Given the description of an element on the screen output the (x, y) to click on. 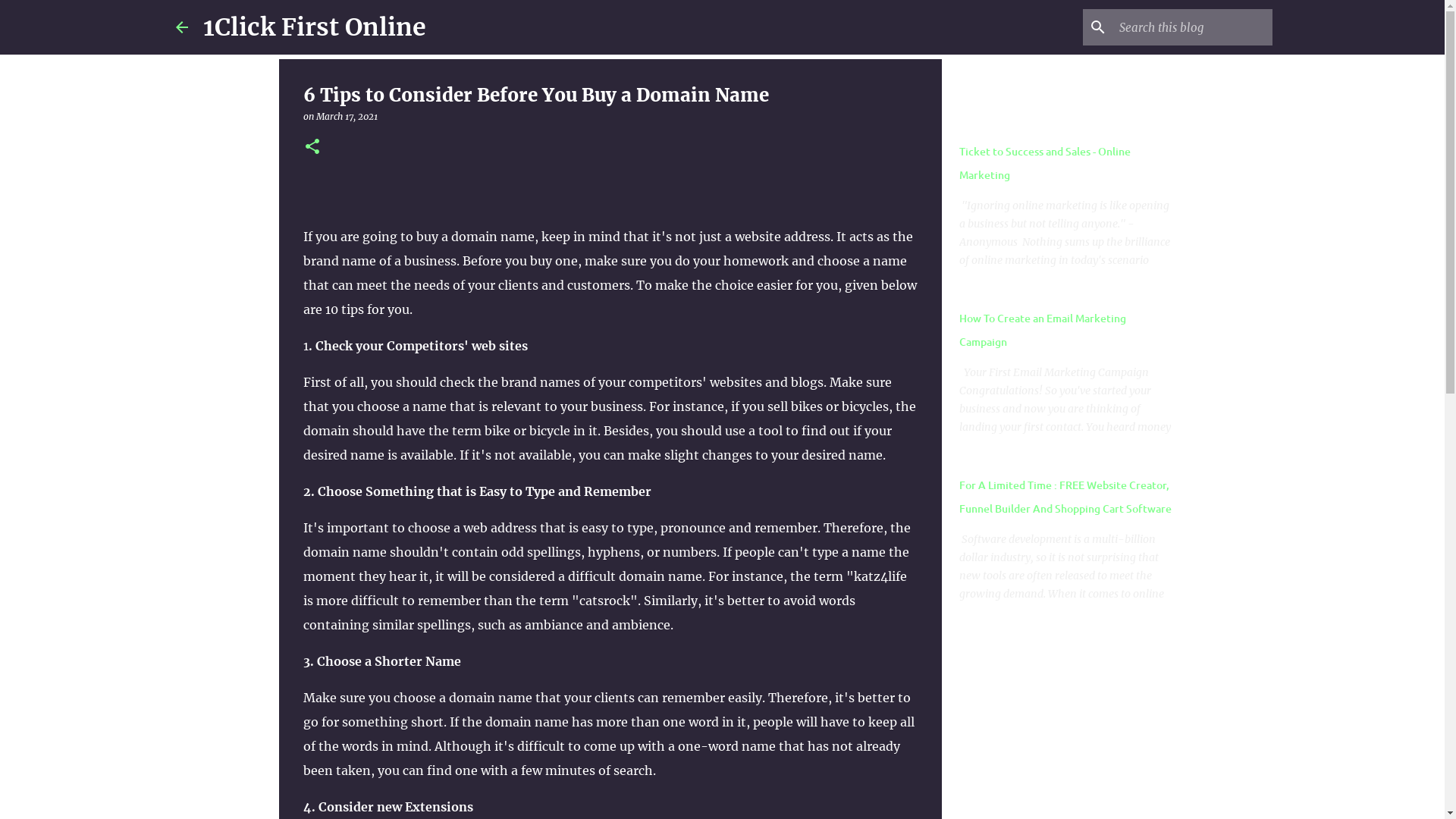
March 17, 2021 Element type: text (346, 116)
How To Create an Email Marketing Campaign Element type: text (1042, 329)
1Click First Online Element type: text (314, 27)
Ticket to Success and Sales - Online Marketing Element type: text (1044, 163)
